Given the description of an element on the screen output the (x, y) to click on. 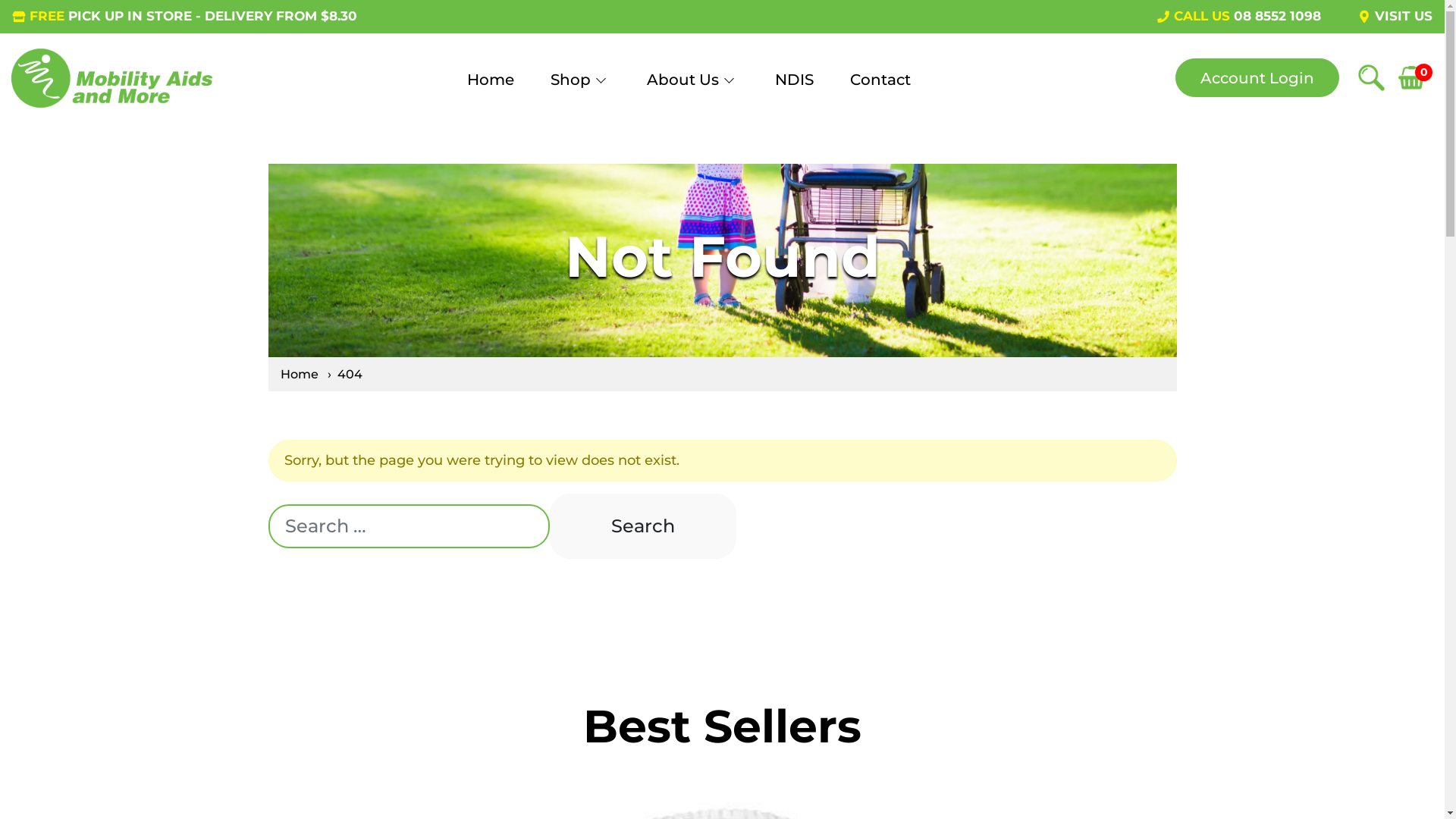
Home Element type: text (300, 374)
Cart
0 Element type: text (1414, 77)
Account Login Element type: text (1257, 77)
CALL US 08 8552 1098 Element type: text (1238, 16)
Search Element type: text (1371, 77)
About Us Element type: text (692, 90)
Home Element type: text (490, 90)
VISIT US Element type: text (1394, 16)
Shop Element type: text (580, 90)
NDIS Element type: text (793, 90)
Search Element type: text (642, 525)
Contact Element type: text (880, 90)
Mobility Aids & More Element type: text (111, 78)
